Given the description of an element on the screen output the (x, y) to click on. 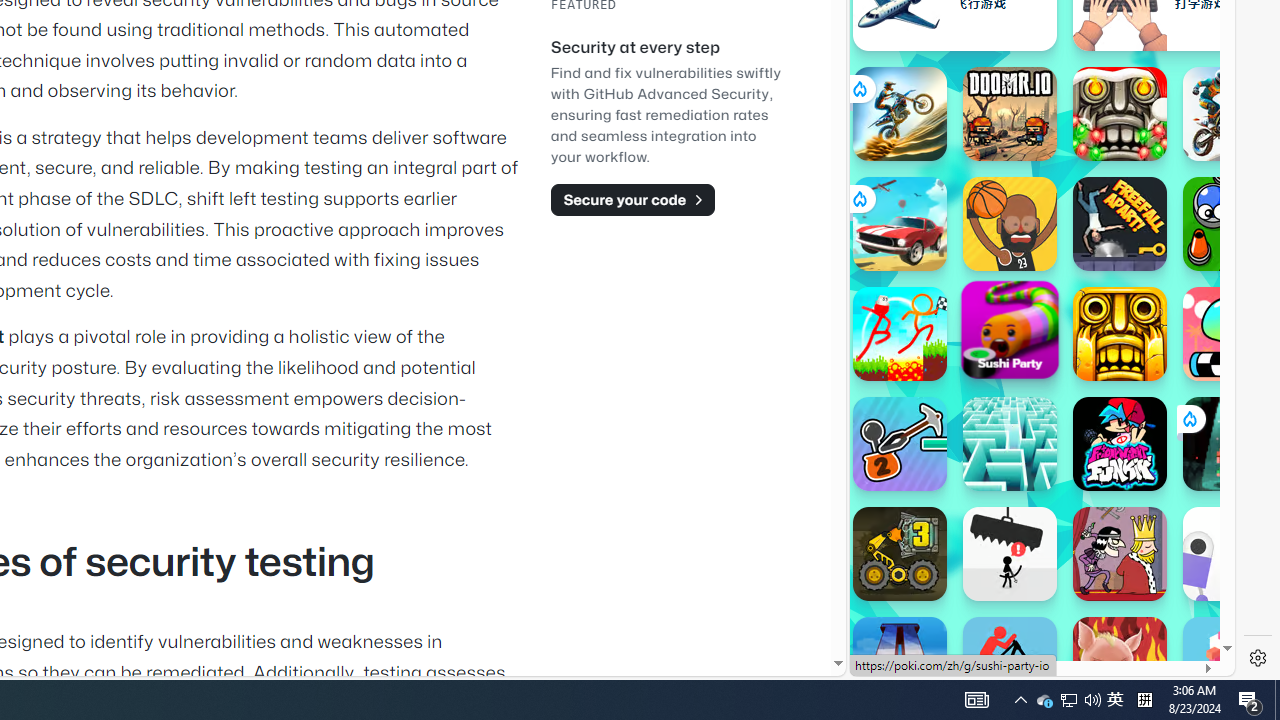
Big Tower Tiny Square 2 (899, 664)
Temple Run 2 (1119, 333)
Friday Night Funkin' Friday Night Funkin' (1119, 443)
BoxRob 3 BoxRob 3 (899, 553)
Trial Mania (1229, 113)
Combat Reloaded (1090, 290)
Temple Run 2: Frozen Festival (1119, 113)
Quivershot (1229, 443)
Temple Run 2 Temple Run 2 (1119, 333)
SUBWAY SURFERS - Play Online for Free! | Poki (1034, 624)
Crazy Cars (1217, 290)
Stunt Bike Extreme (899, 113)
Quivershot Quivershot (1229, 443)
